Given the description of an element on the screen output the (x, y) to click on. 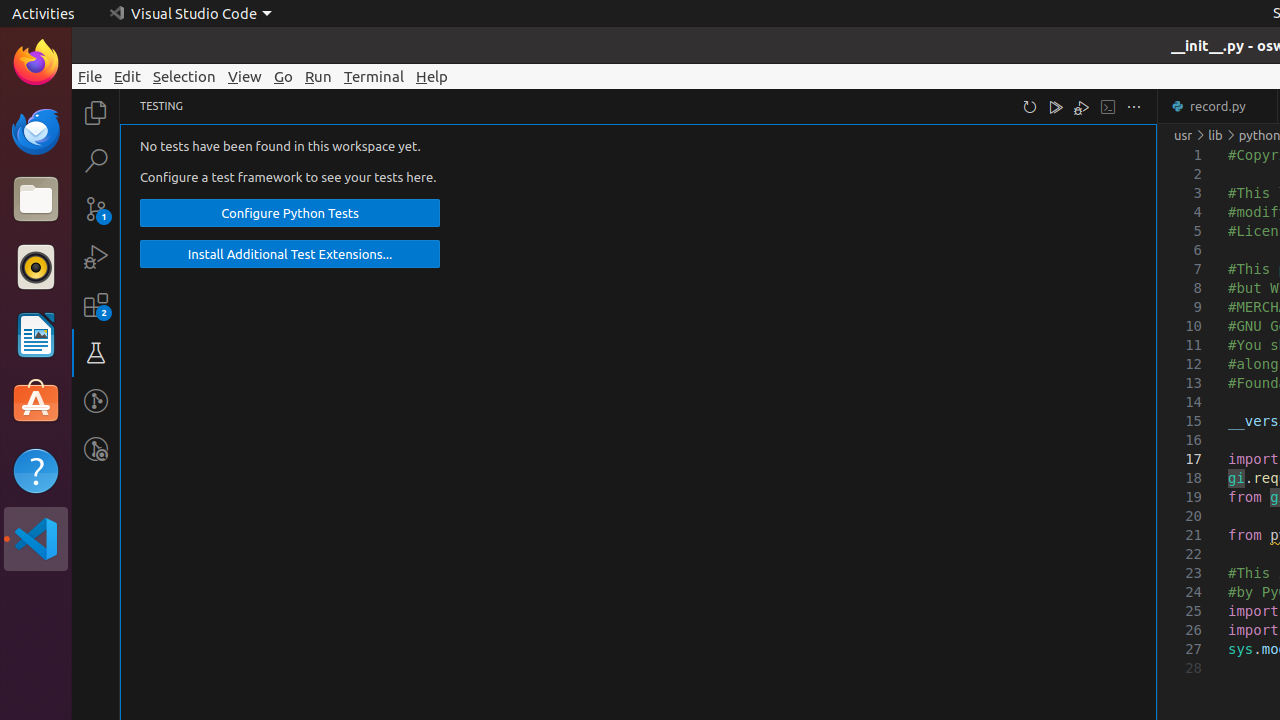
Selection Element type: push-button (184, 76)
Install Additional Test Extensions... Element type: push-button (290, 254)
Extensions (Ctrl+Shift+X) - 2 require restart Extensions (Ctrl+Shift+X) - 2 require restart Element type: page-tab (96, 305)
